Given the description of an element on the screen output the (x, y) to click on. 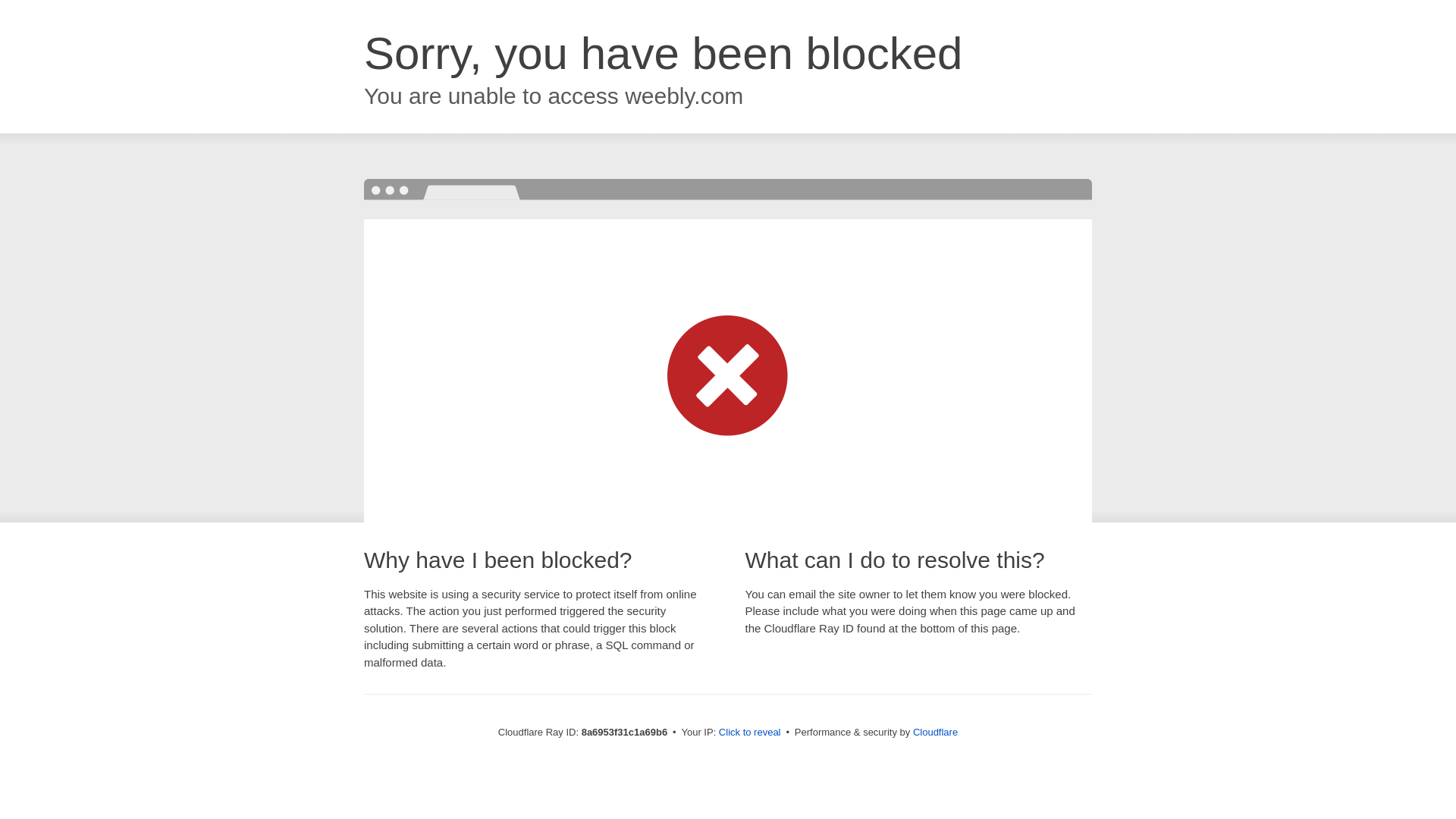
Cloudflare (935, 731)
Click to reveal (749, 732)
